Given the description of an element on the screen output the (x, y) to click on. 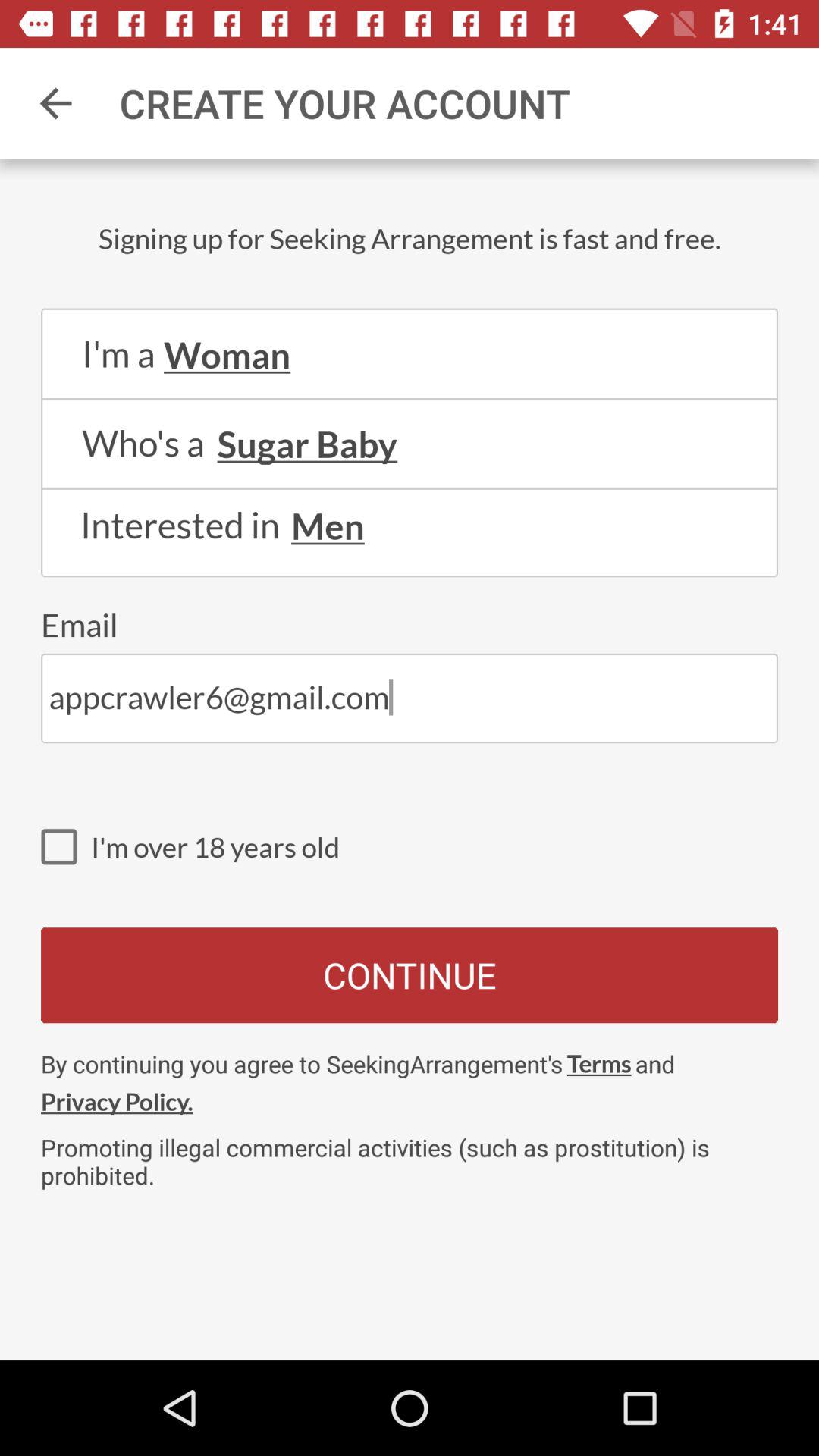
flip to by continuing you item (301, 1063)
